Given the description of an element on the screen output the (x, y) to click on. 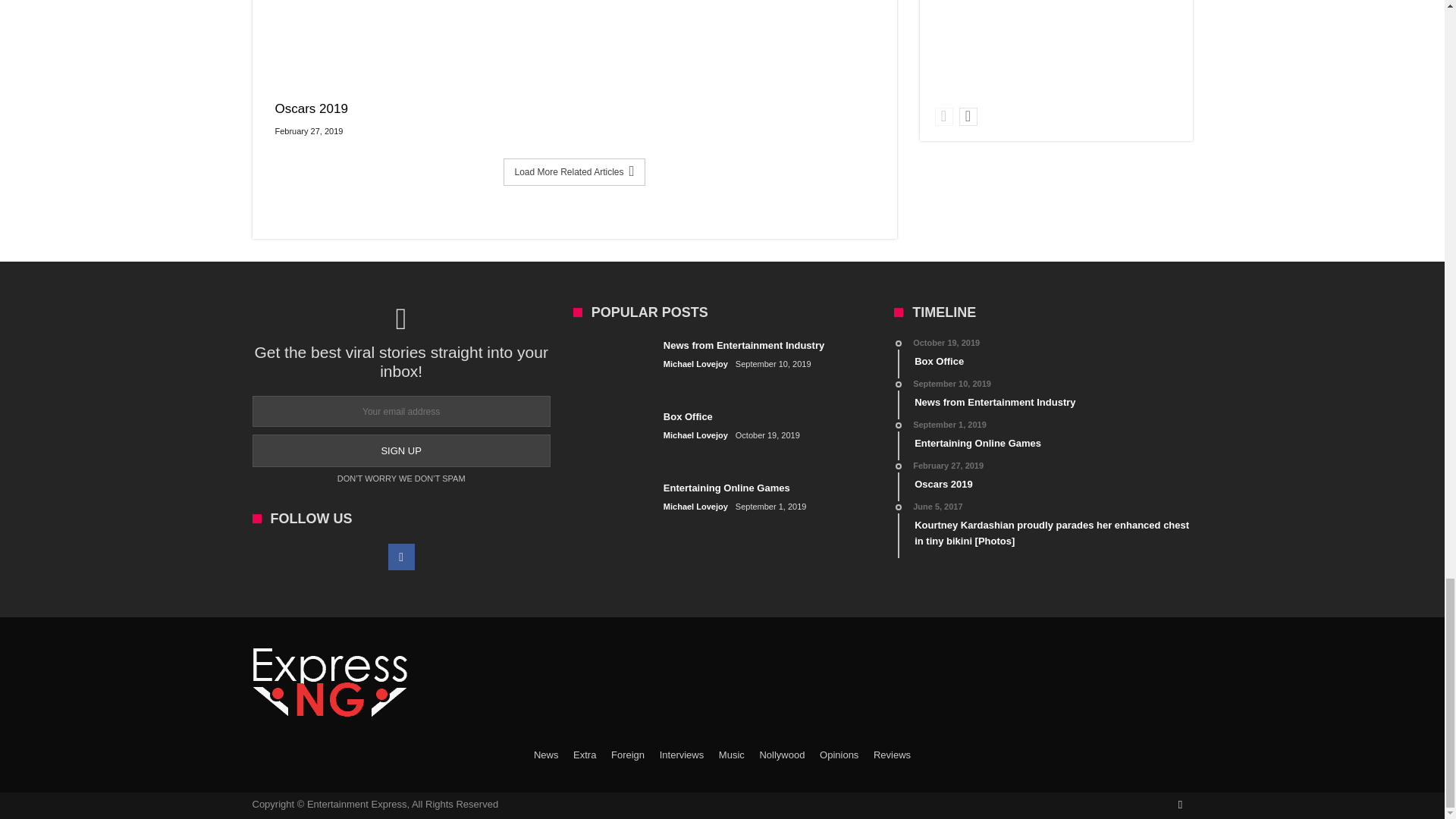
Sign up (400, 450)
Posts by Michael Lovejoy (695, 364)
Facebook (401, 557)
Posts by Michael Lovejoy (695, 506)
Posts by Michael Lovejoy (695, 435)
